Given the description of an element on the screen output the (x, y) to click on. 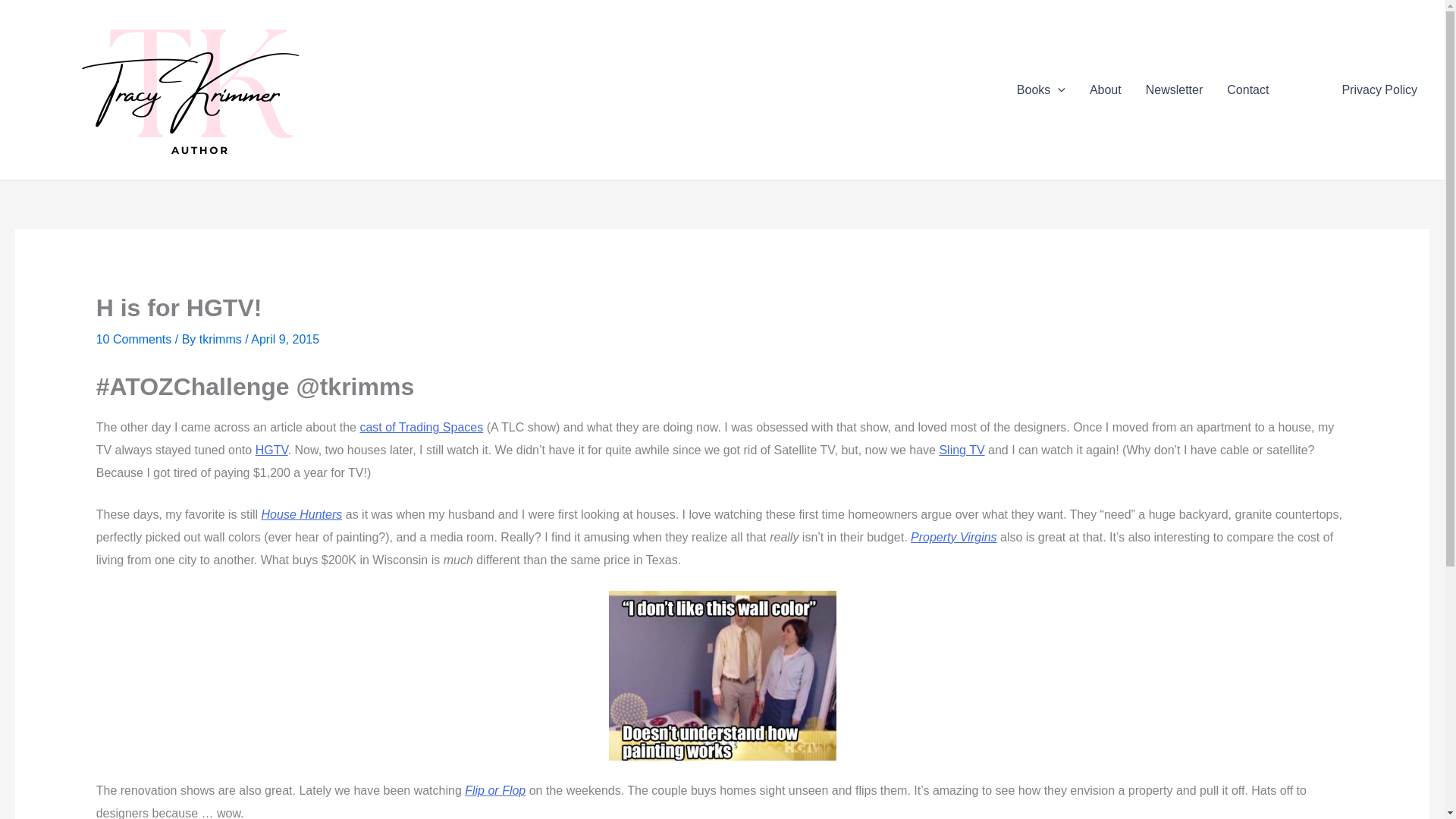
Books (1040, 88)
About (1105, 88)
Privacy Policy (1379, 88)
Newsletter (1174, 88)
View all posts by tkrimms (221, 338)
Contact (1247, 88)
